Given the description of an element on the screen output the (x, y) to click on. 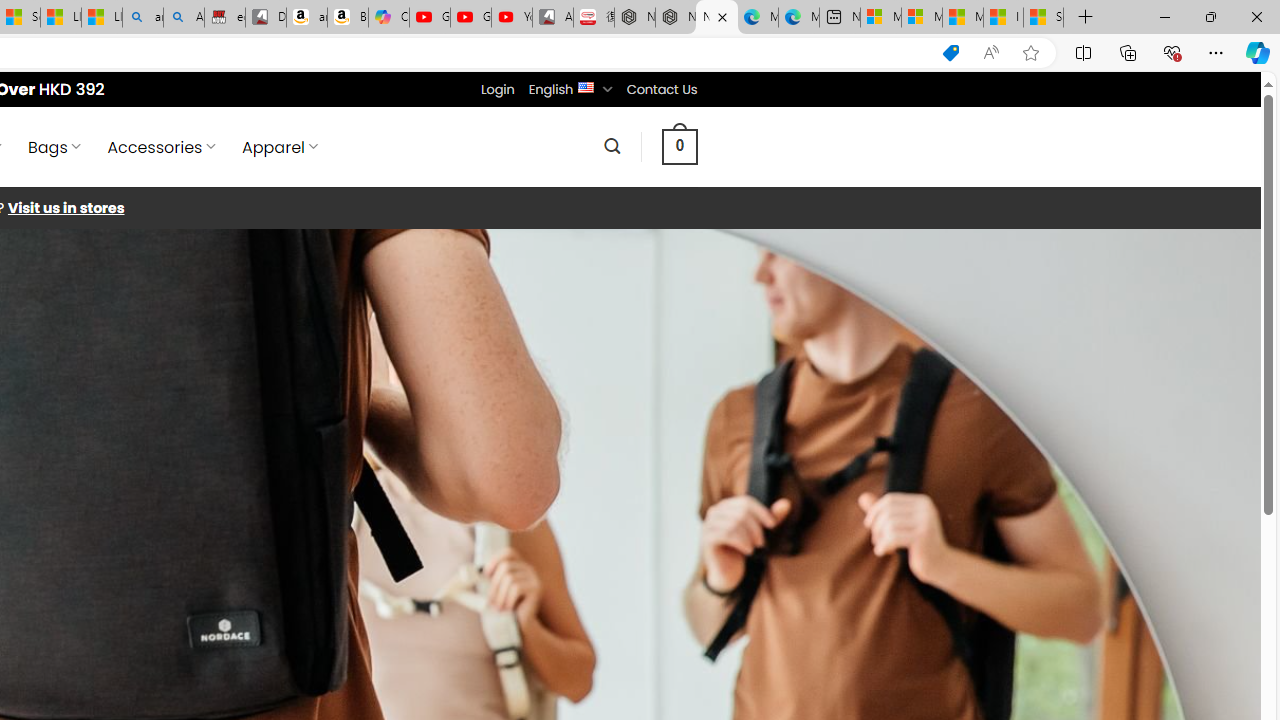
Contact Us (661, 89)
All Cubot phones (552, 17)
 0  (679, 146)
Gloom - YouTube (470, 17)
YouTube Kids - An App Created for Kids to Explore Content (511, 17)
